Given the description of an element on the screen output the (x, y) to click on. 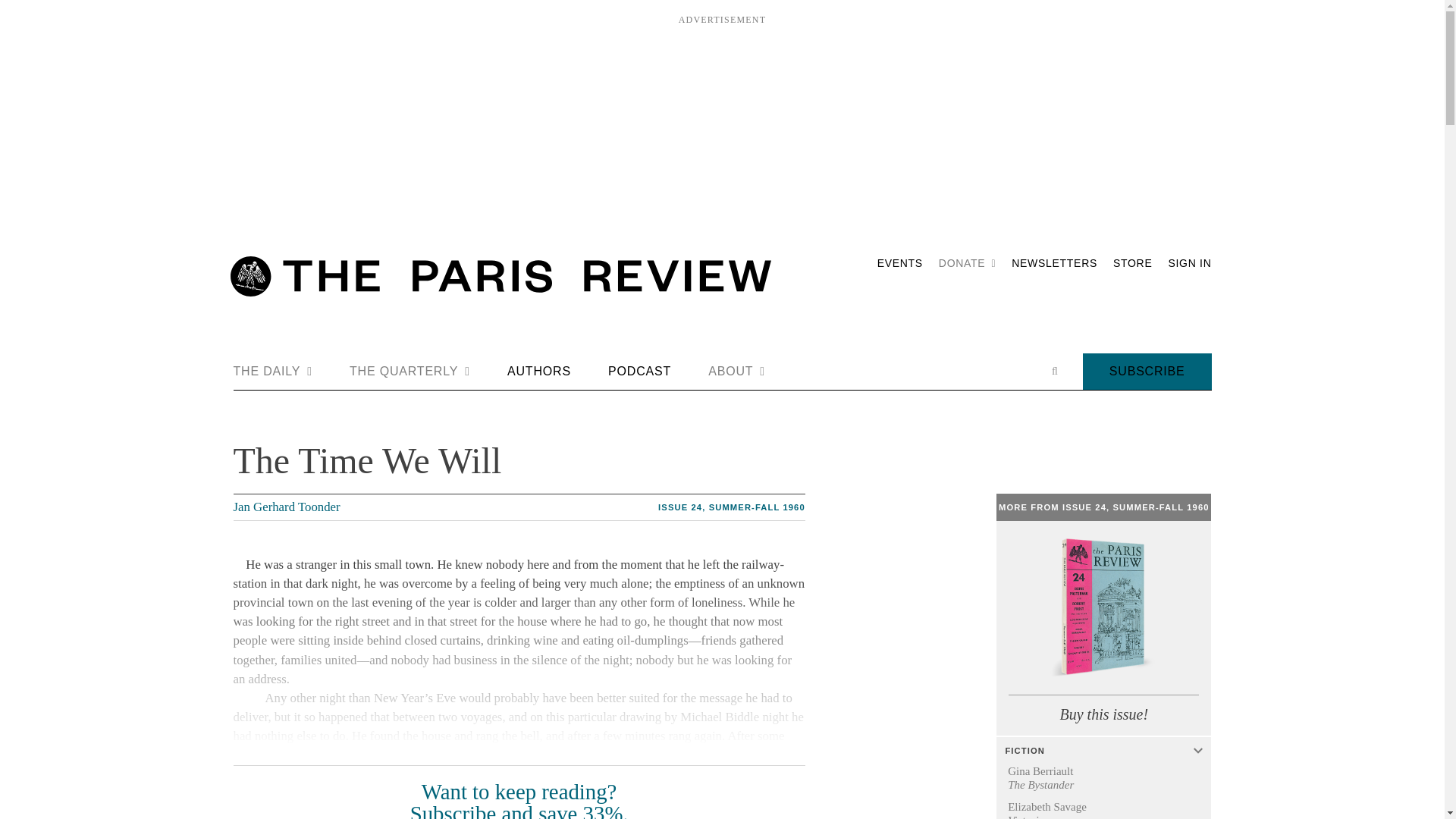
Open search (1054, 371)
THE QUARTERLY (409, 371)
THE DAILY (272, 371)
